Given the description of an element on the screen output the (x, y) to click on. 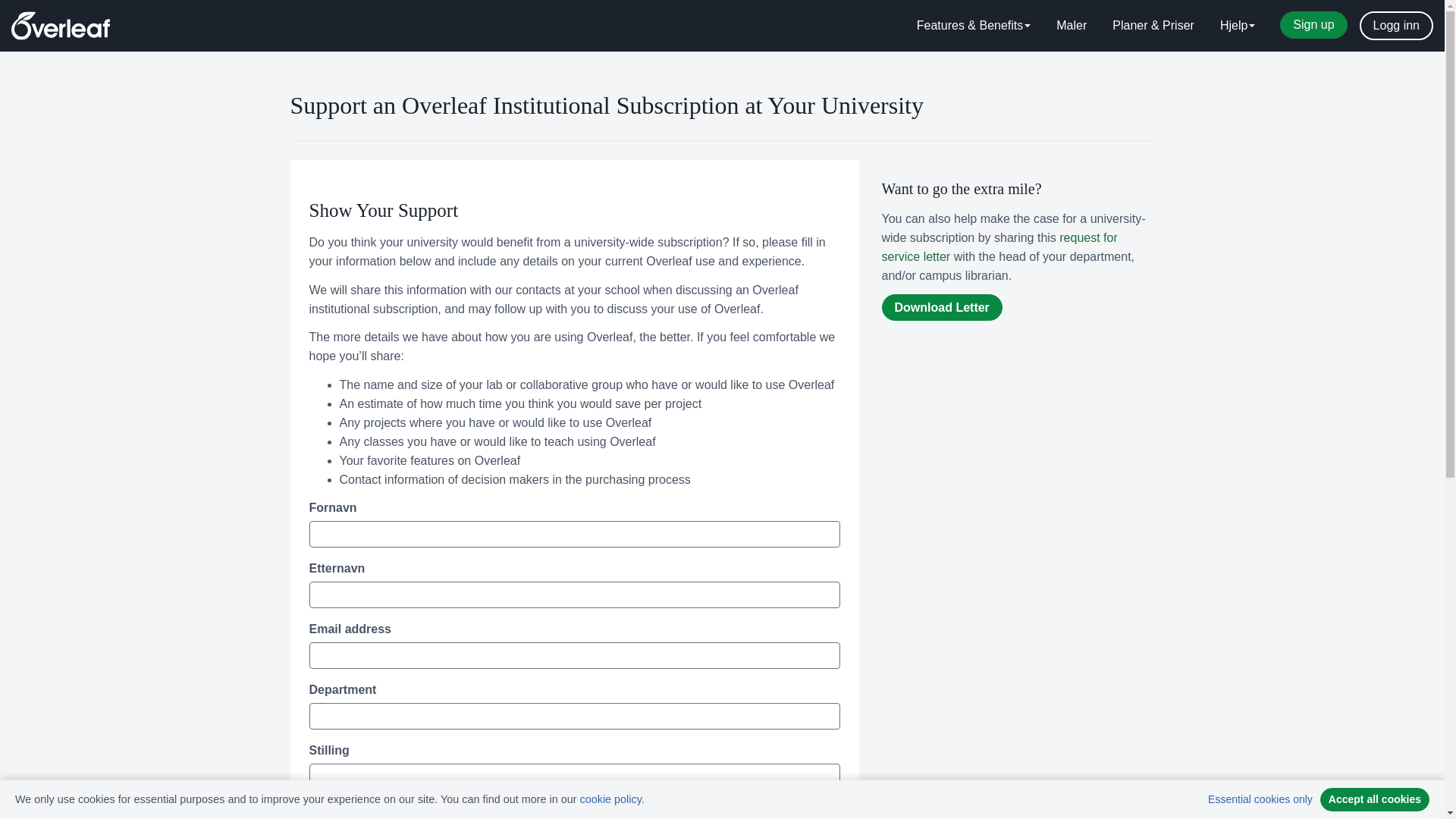
Logg inn (1395, 25)
Download Letter (940, 307)
request for service letter (998, 246)
Sign up (1312, 24)
Hjelp (1237, 25)
Maler (1071, 25)
